Given the description of an element on the screen output the (x, y) to click on. 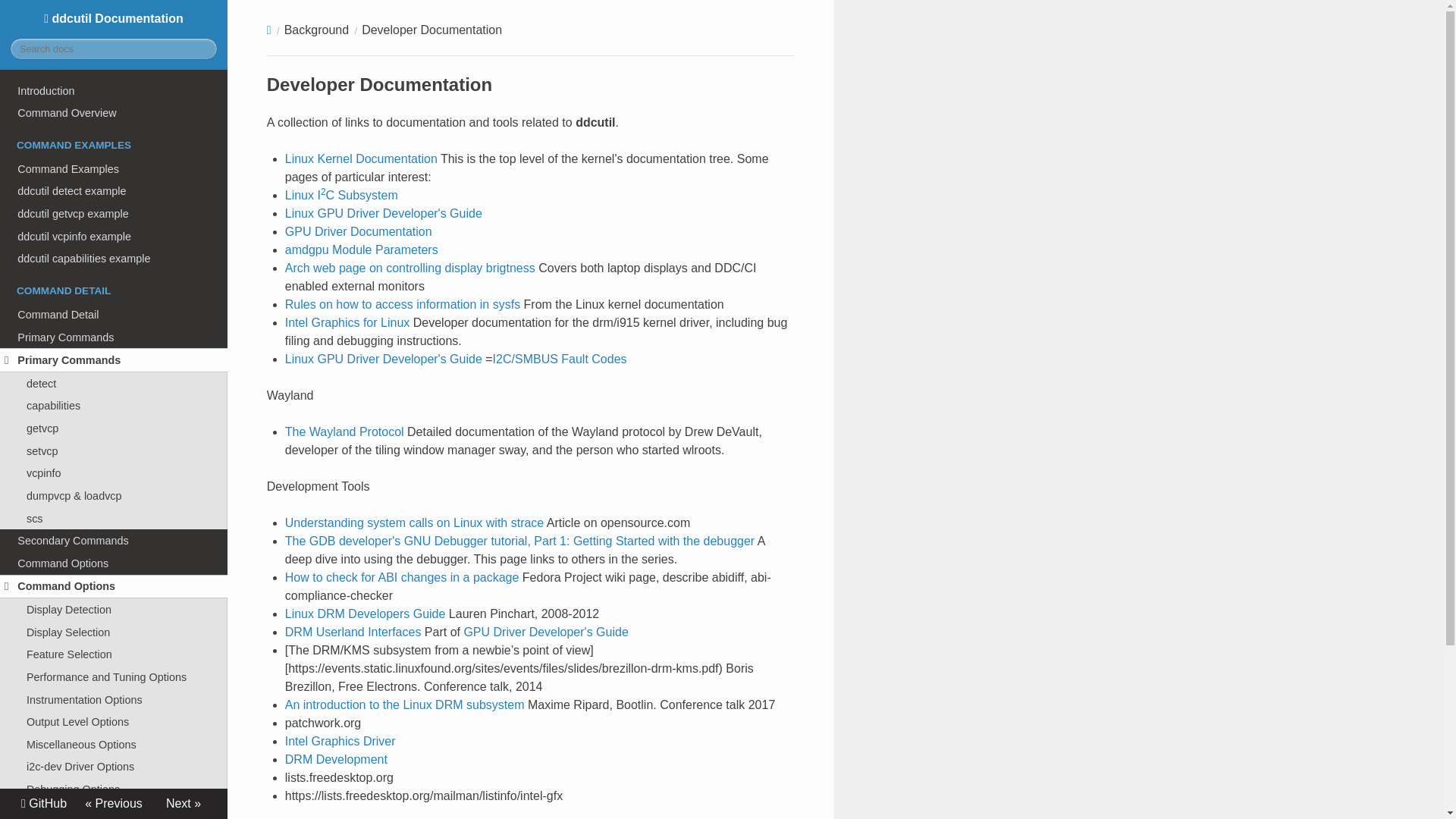
Display Detection (113, 609)
Primary Commands (113, 336)
Output Level Options (113, 721)
vcpinfo (113, 473)
Display Selection (113, 631)
scs (113, 517)
Feature Selection (113, 653)
Command Examples (113, 169)
Performance and Tuning Options (113, 676)
ddcutil detect example (113, 191)
detect (113, 383)
ddcutil Documentation (113, 18)
ddcutil capabilities example (113, 258)
Command Detail (113, 314)
ddcutil vcpinfo example (113, 236)
